Given the description of an element on the screen output the (x, y) to click on. 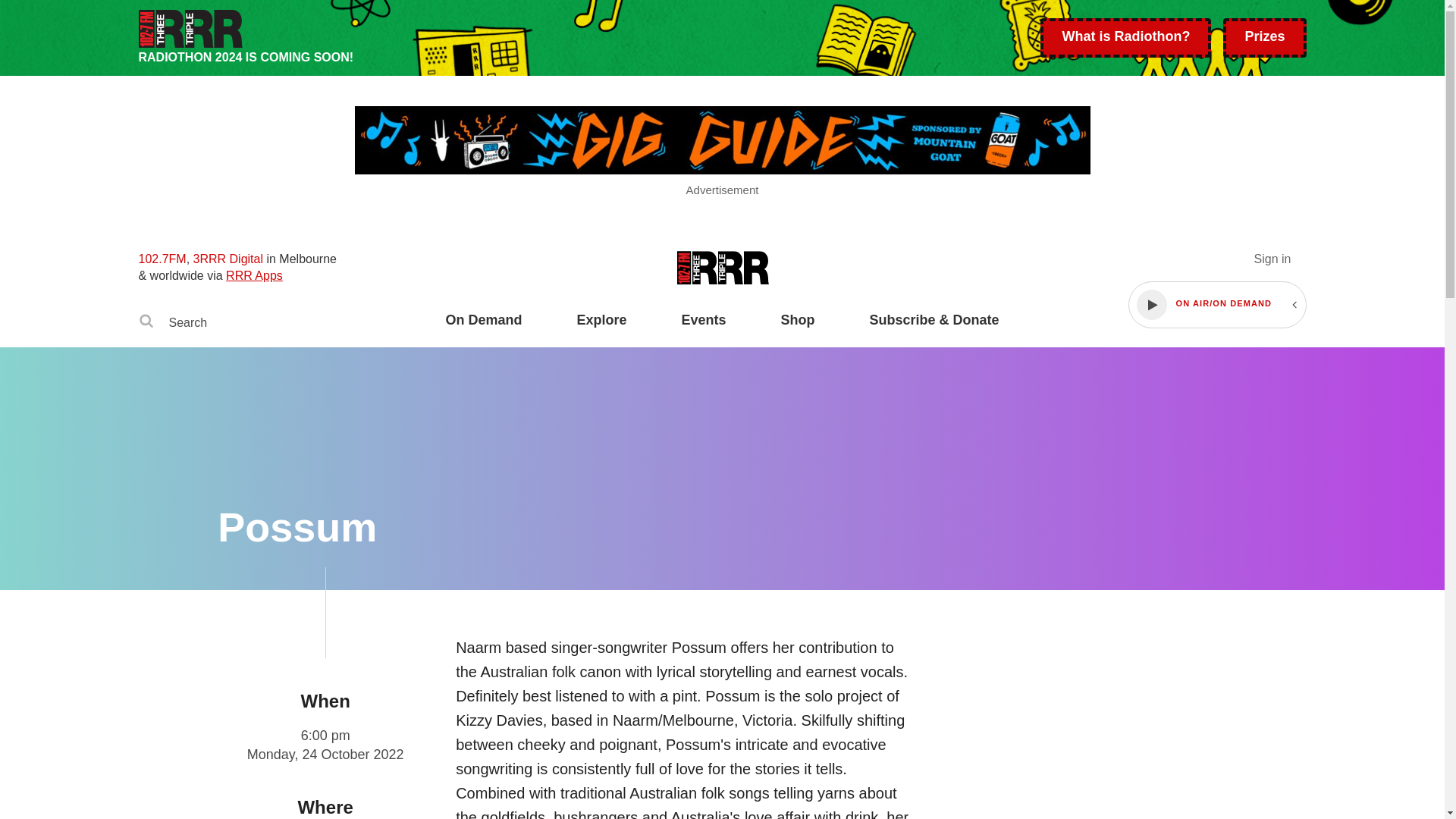
RADIOTHON 2024 IS COMING SOON! (589, 37)
On Demand (482, 329)
Sign in (1272, 258)
Prizes (1264, 37)
RRR Apps (253, 275)
Search (145, 322)
What is Radiothon? (1126, 37)
Events (702, 329)
Triple R logo (722, 267)
Explore (600, 329)
